Given the description of an element on the screen output the (x, y) to click on. 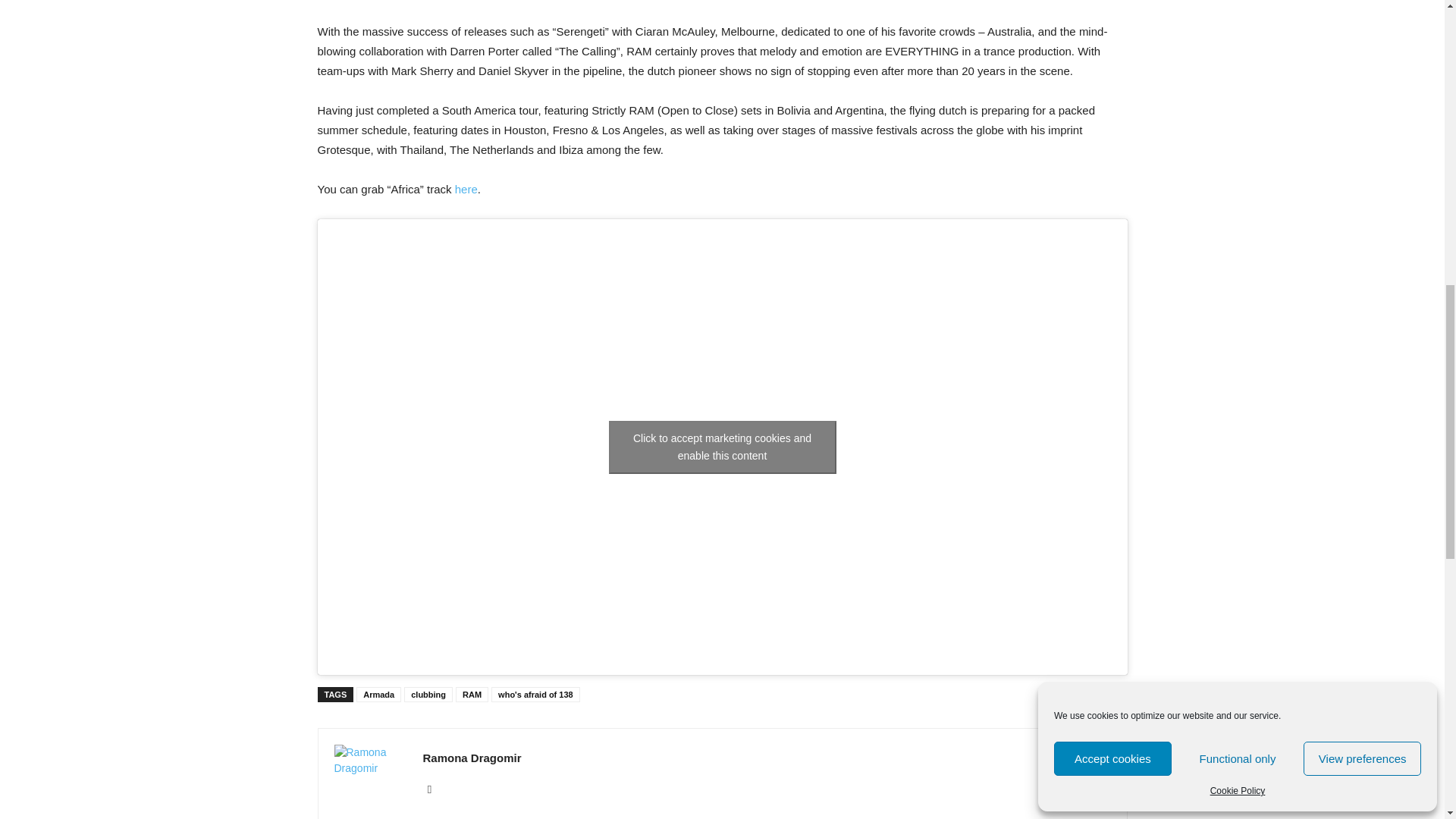
Click to accept marketing cookies and enable this content (721, 447)
here (465, 188)
